Given the description of an element on the screen output the (x, y) to click on. 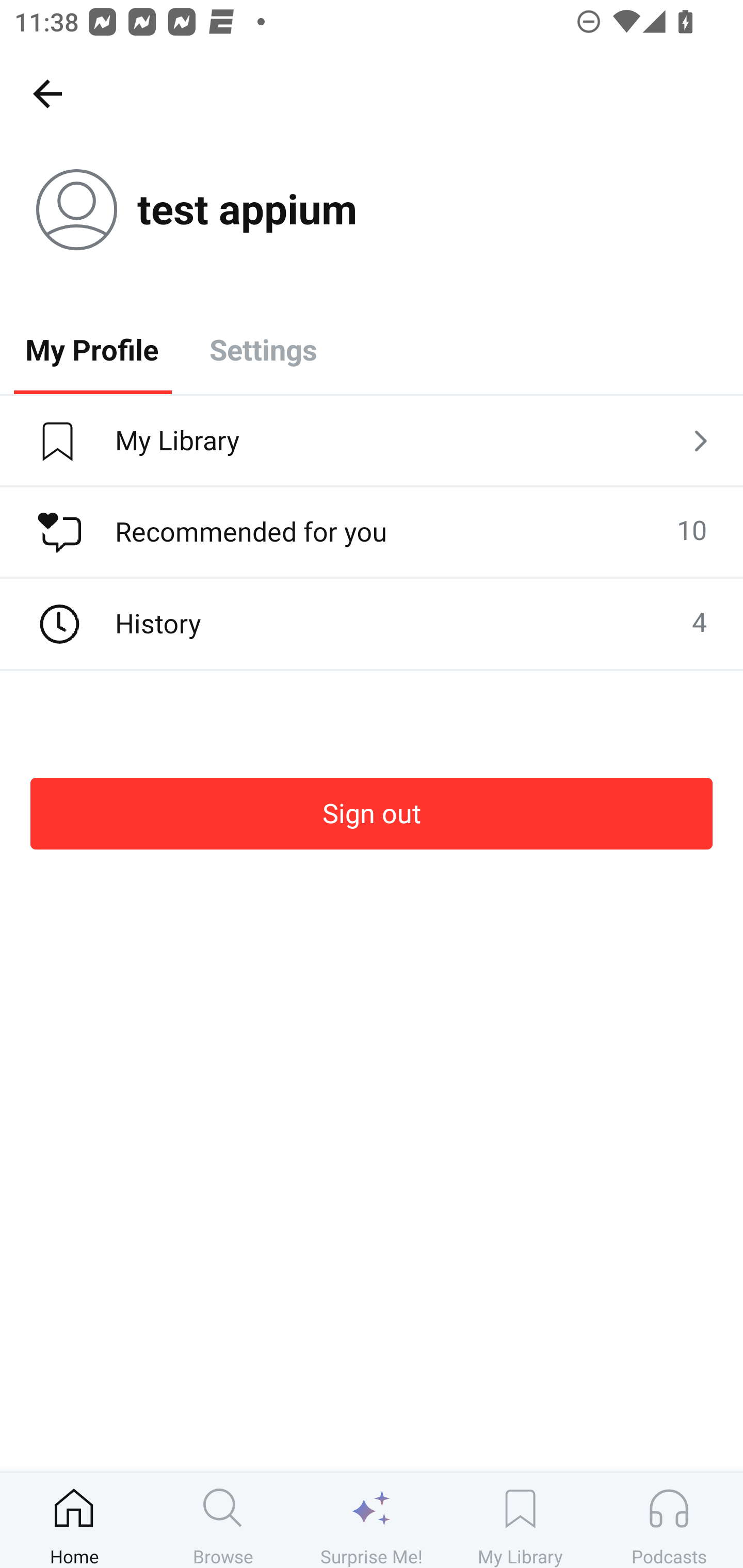
Home, back (47, 92)
My Profile (92, 348)
Settings (263, 348)
My Library (371, 441)
Recommended for you 10 (371, 532)
History 4 (371, 623)
Sign out (371, 813)
Home (74, 1520)
Browse (222, 1520)
Surprise Me! (371, 1520)
My Library (519, 1520)
Podcasts (668, 1520)
